Given the description of an element on the screen output the (x, y) to click on. 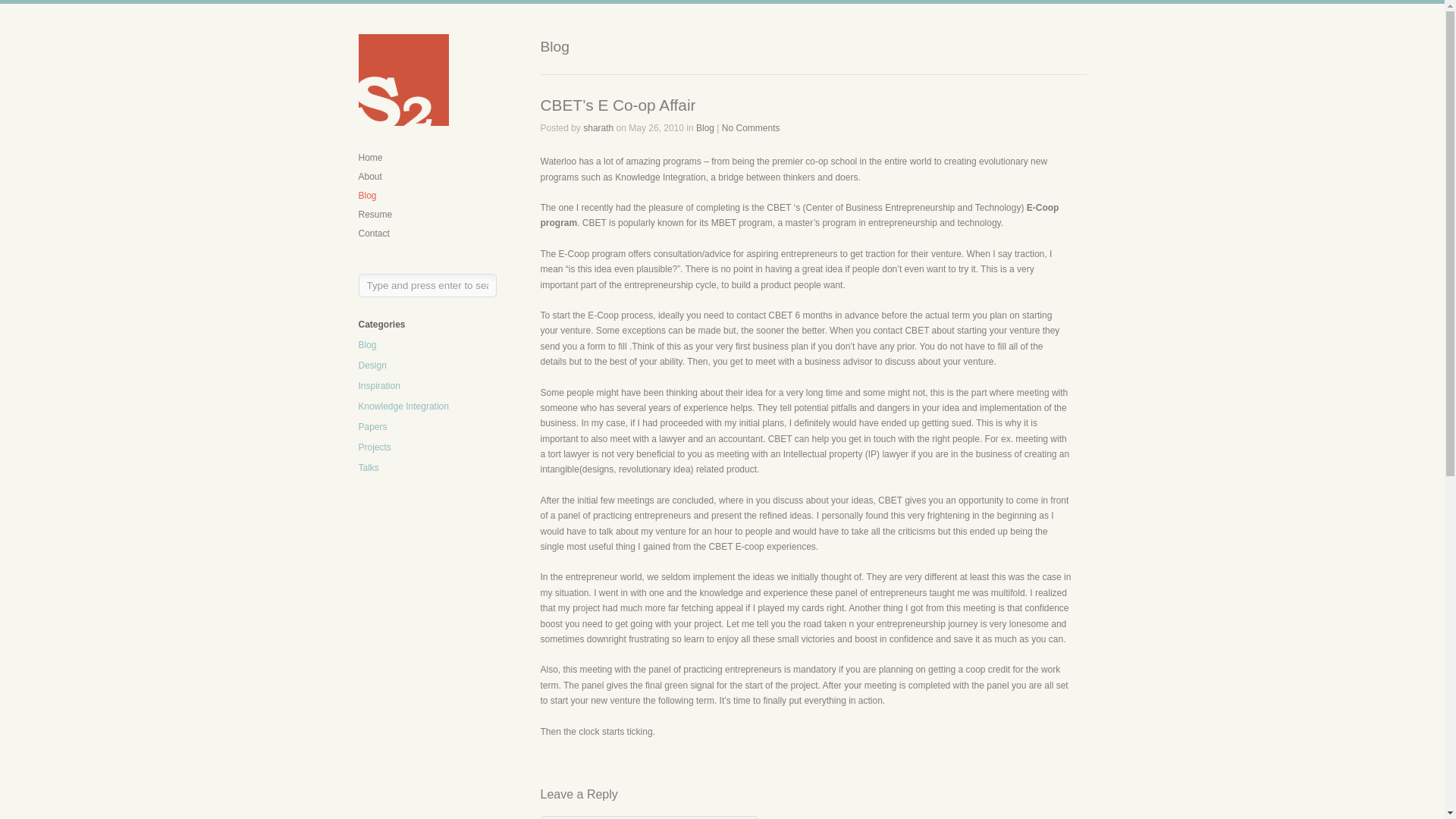
Type and press enter to search. (427, 285)
sharath (597, 127)
Papers (372, 426)
Knowledge Integration (403, 406)
Blog (366, 344)
About (369, 176)
Blog (366, 195)
Contact (373, 233)
Resume (374, 214)
Design (371, 365)
